Given the description of an element on the screen output the (x, y) to click on. 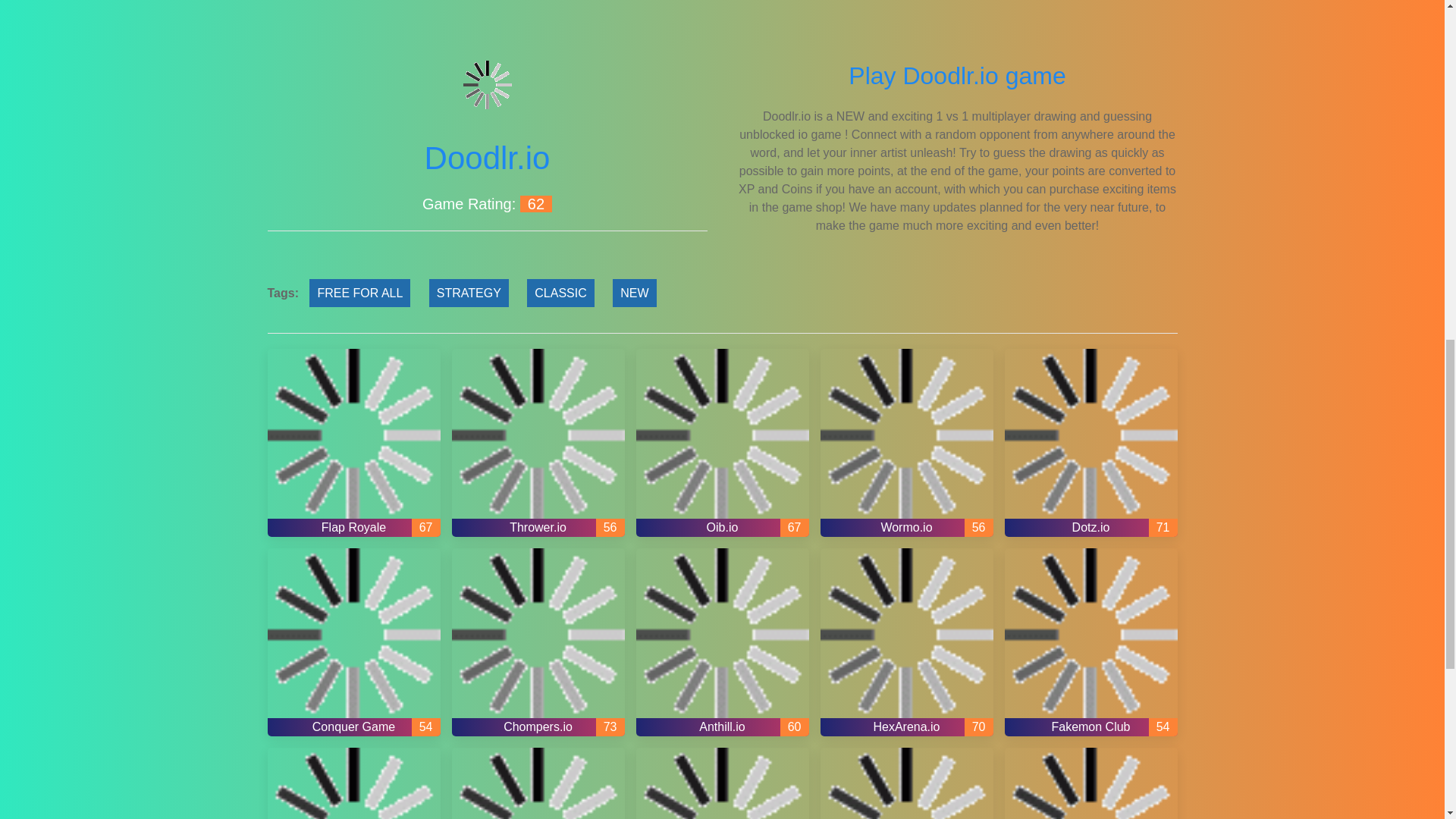
Oib.io (721, 442)
Thrower.io (537, 442)
HexArena.io (906, 641)
Astrix.io (721, 783)
Killer.io (1090, 783)
Goons.io (906, 783)
Wormo.io (906, 442)
Flap Royale (352, 442)
Fakemon Club (1090, 641)
Conquer Game (352, 641)
Dotz.io (1090, 442)
Chompers.io (537, 641)
Dungo.io (537, 783)
Anthill.io (721, 641)
SLIME .LOL (352, 783)
